Given the description of an element on the screen output the (x, y) to click on. 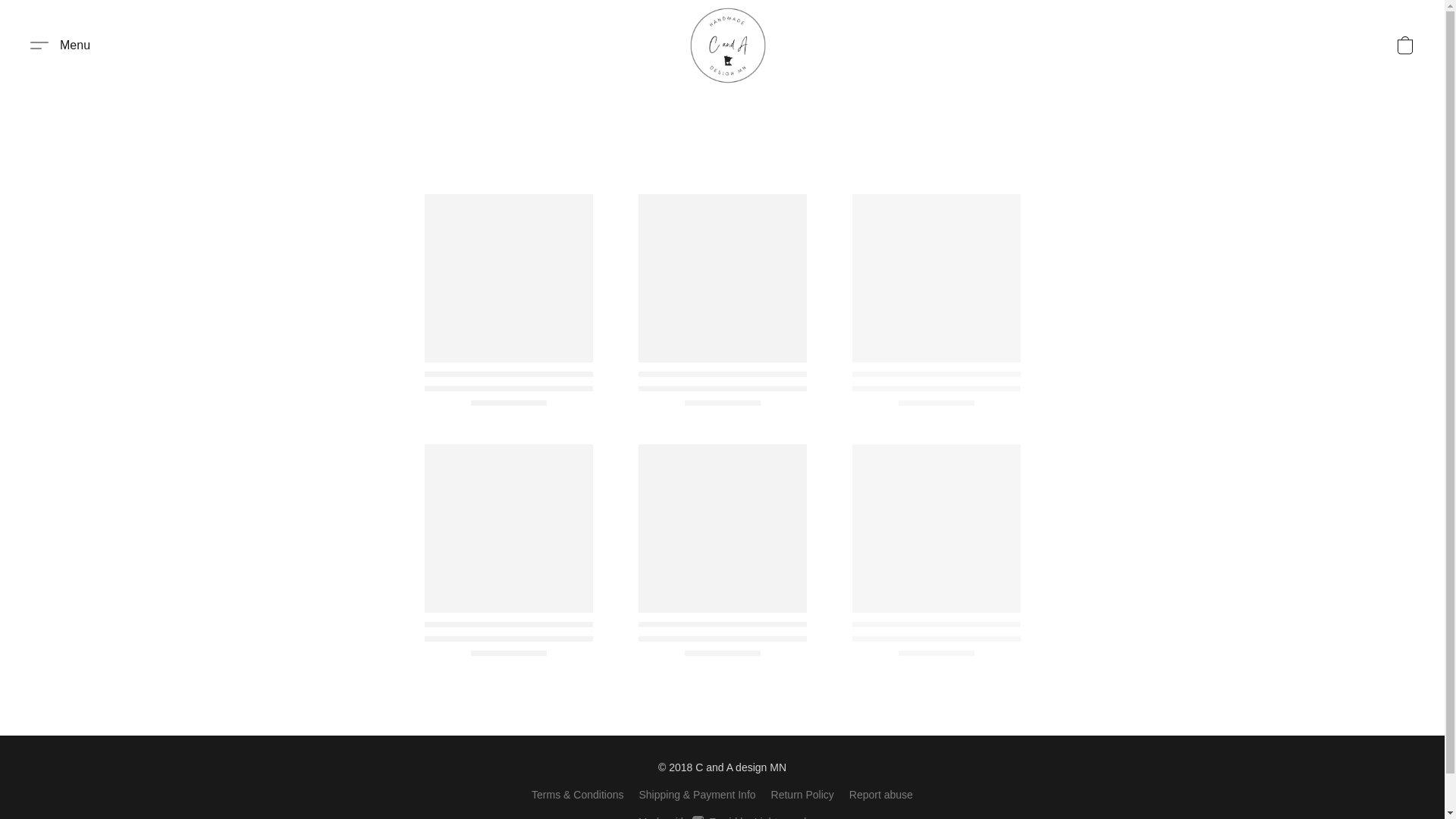
Go to your shopping cart (1404, 45)
Menu (722, 816)
Return Policy (59, 45)
Report abuse (802, 794)
